Given the description of an element on the screen output the (x, y) to click on. 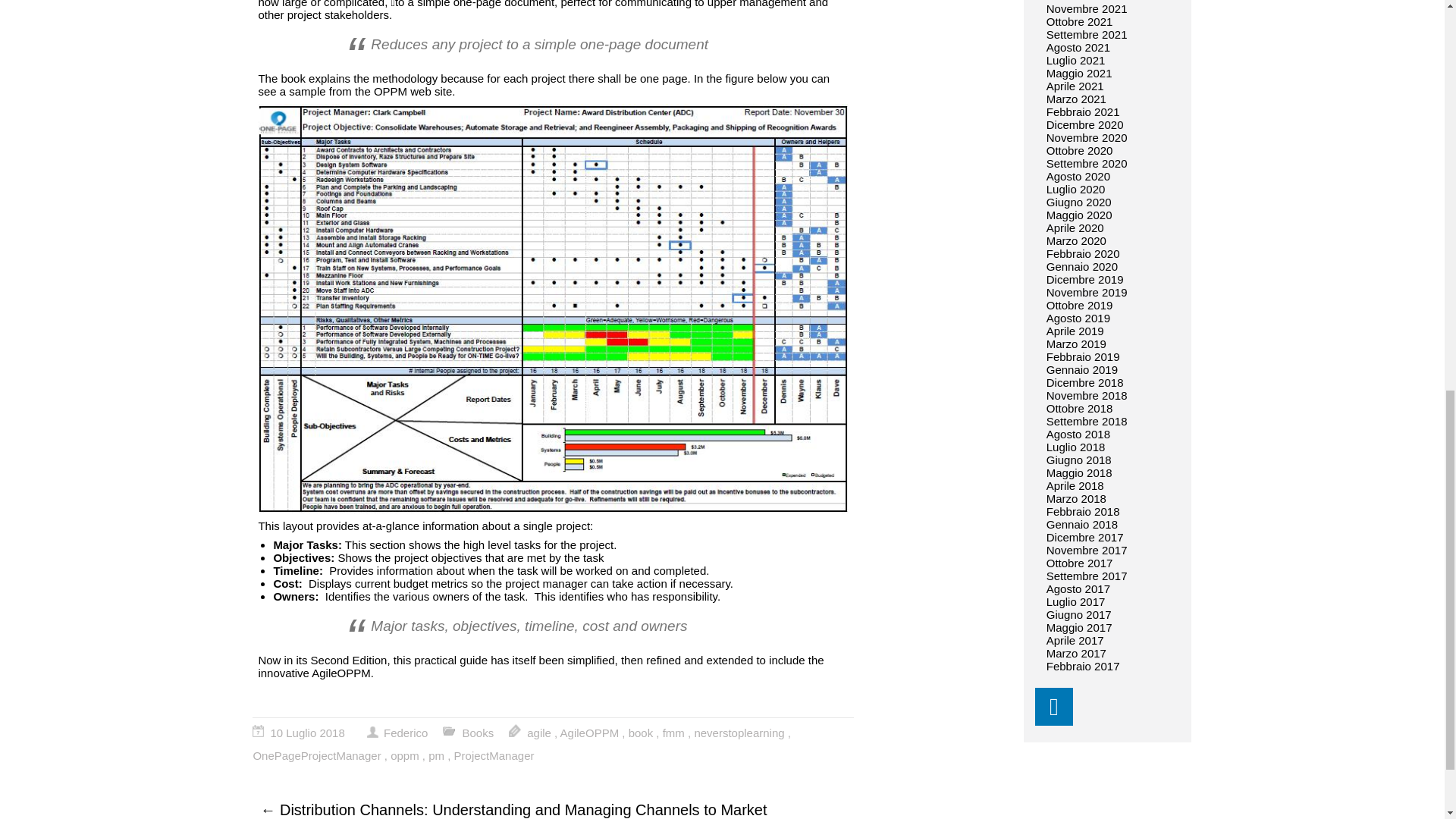
9:10 am (308, 732)
book (640, 732)
10 Luglio 2018 (308, 732)
fmm (673, 732)
Books (479, 732)
AgileOPPM (590, 732)
neverstoplearning (739, 732)
ProjectManager (494, 755)
OnePageProjectManager (315, 755)
oppm (404, 755)
